Given the description of an element on the screen output the (x, y) to click on. 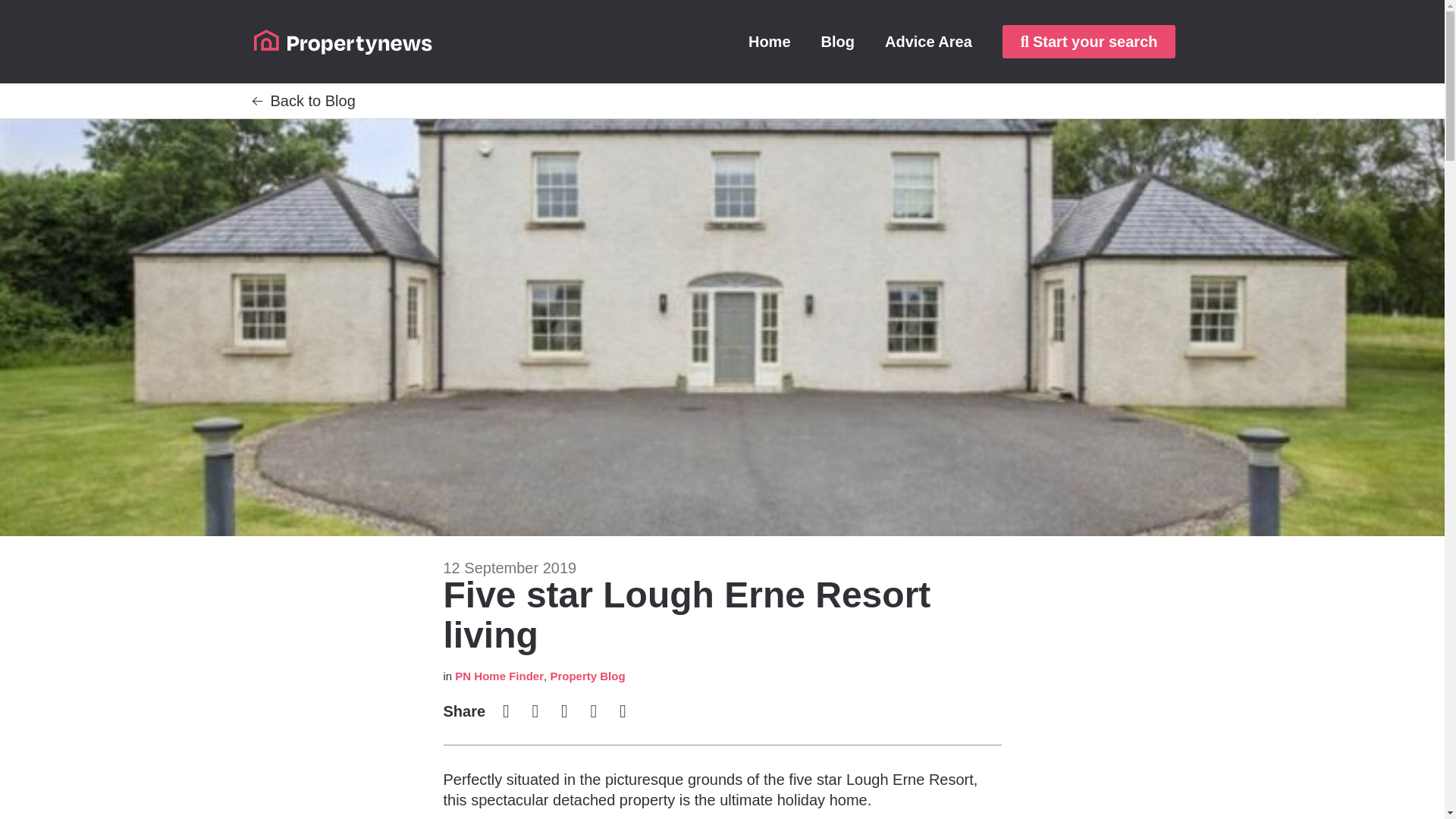
Back to Blog (312, 100)
Property Blog (587, 675)
Blog (837, 41)
Start your search (1089, 41)
PN Home Finder (498, 675)
Home (769, 41)
Advice Area (928, 41)
